Given the description of an element on the screen output the (x, y) to click on. 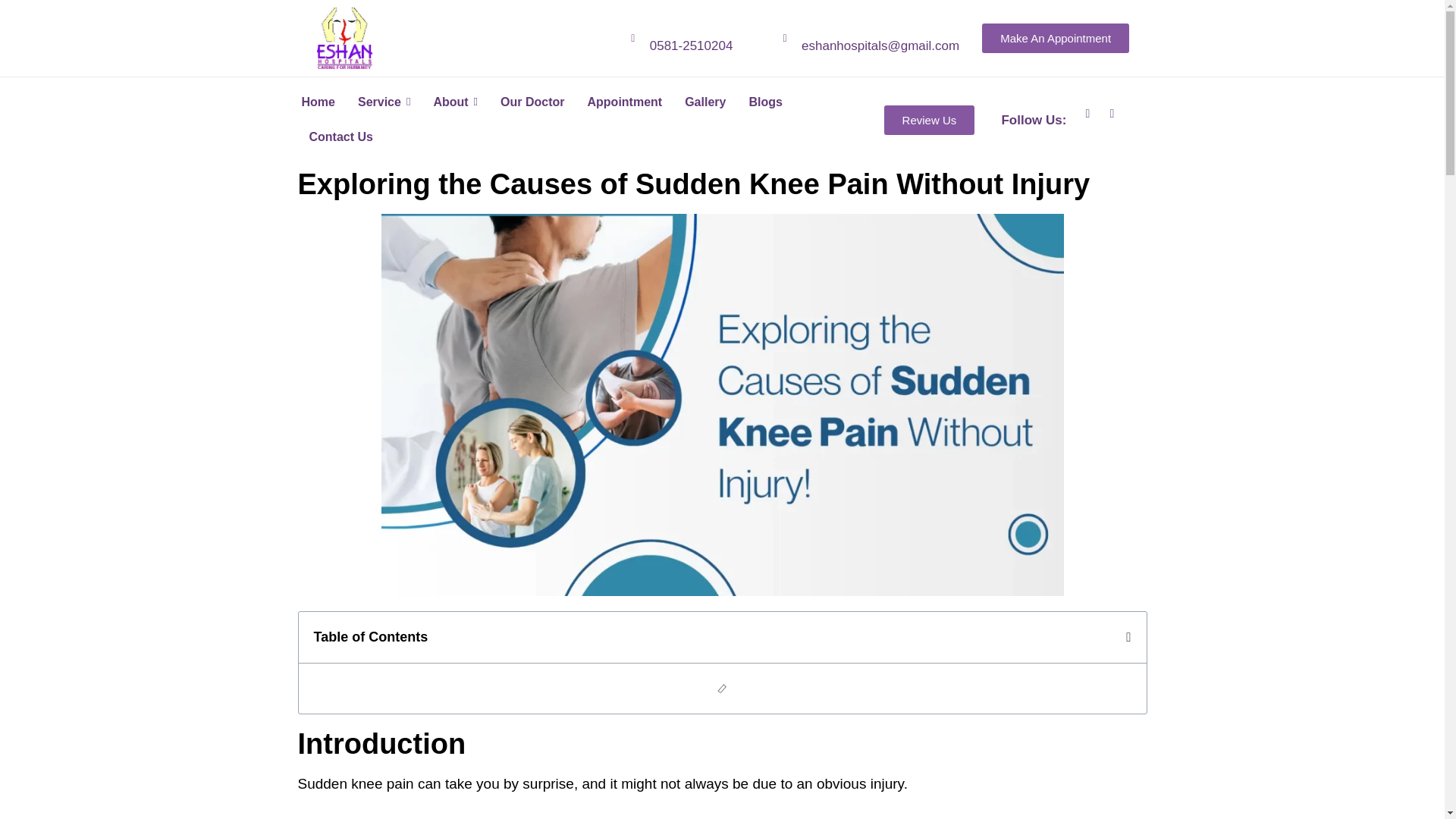
Service (383, 102)
Home (317, 102)
Make An Appointment (1055, 38)
